Given the description of an element on the screen output the (x, y) to click on. 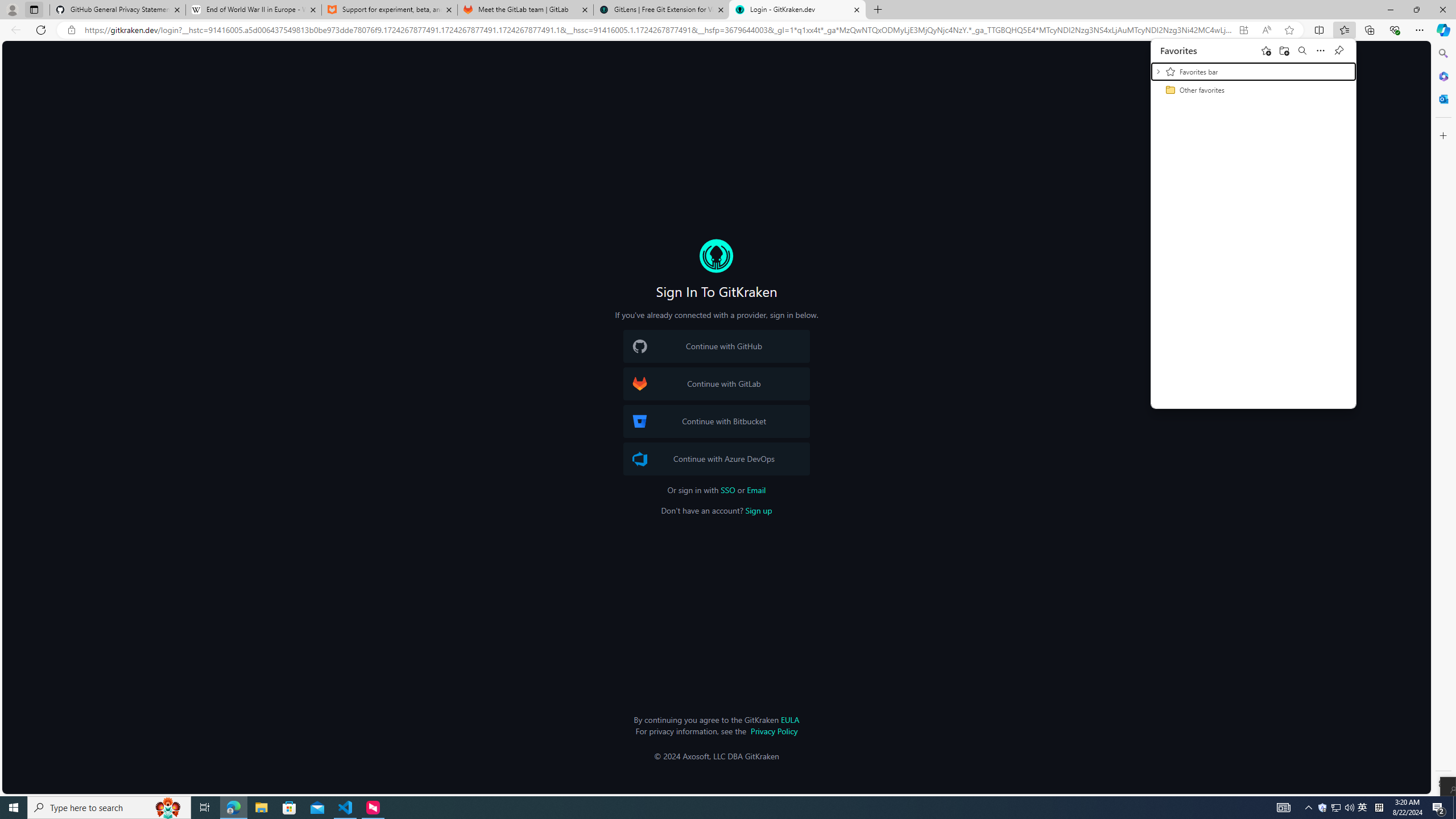
GitHub Logo Continue with GitHub (716, 346)
Q2790: 100% (1349, 807)
End of World War II in Europe - Wikipedia (253, 9)
Bitbucket Logo Continue with Bitbucket (716, 421)
Pin favorites (1338, 49)
GitKraken (715, 255)
